Given the description of an element on the screen output the (x, y) to click on. 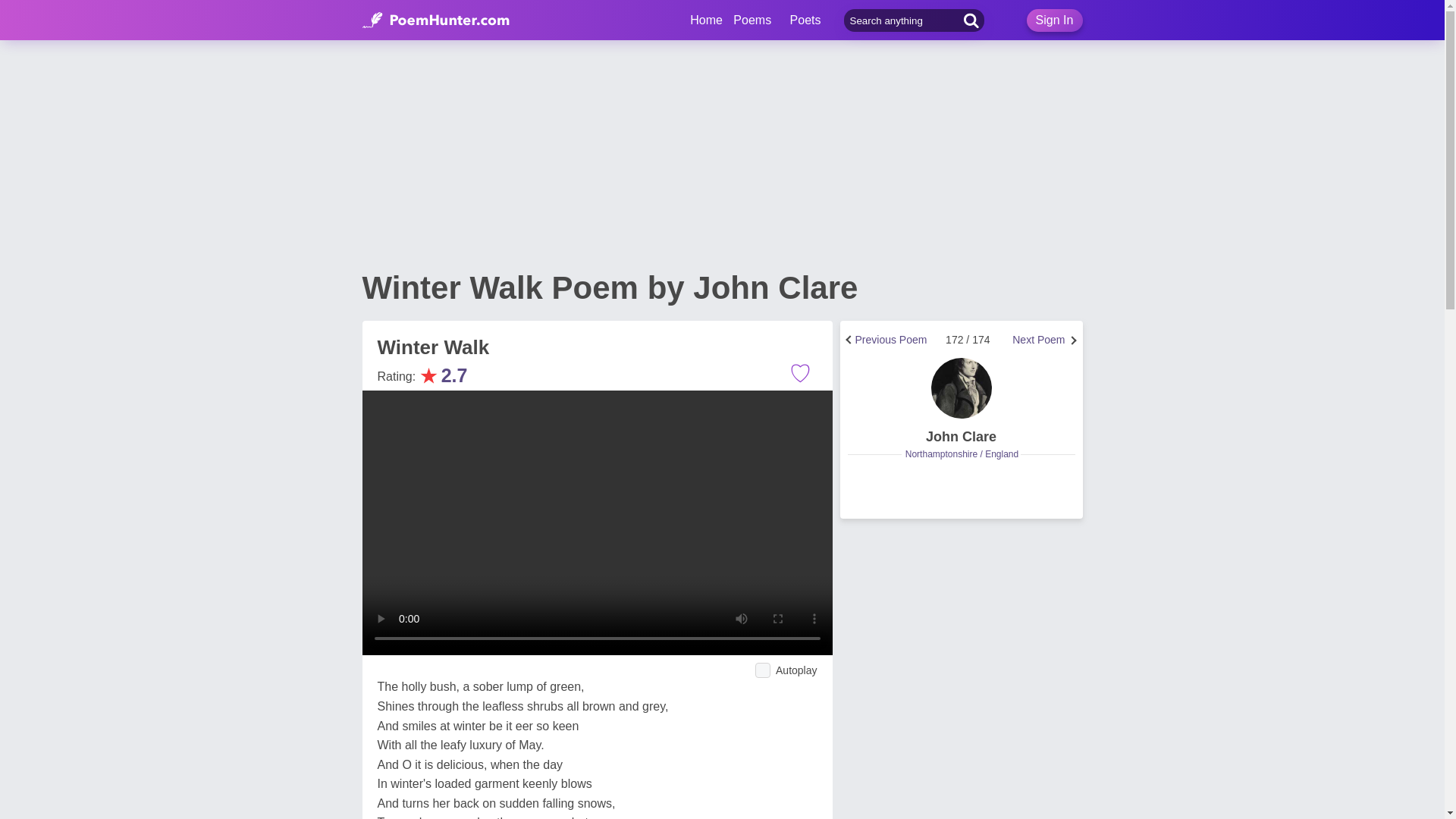
PoemHunter.com: Poems - Poets - Poetry (706, 19)
Sign In (1054, 19)
PoemHunter.com: Poems - Poets - Poetry (435, 20)
Home (706, 19)
